Given the description of an element on the screen output the (x, y) to click on. 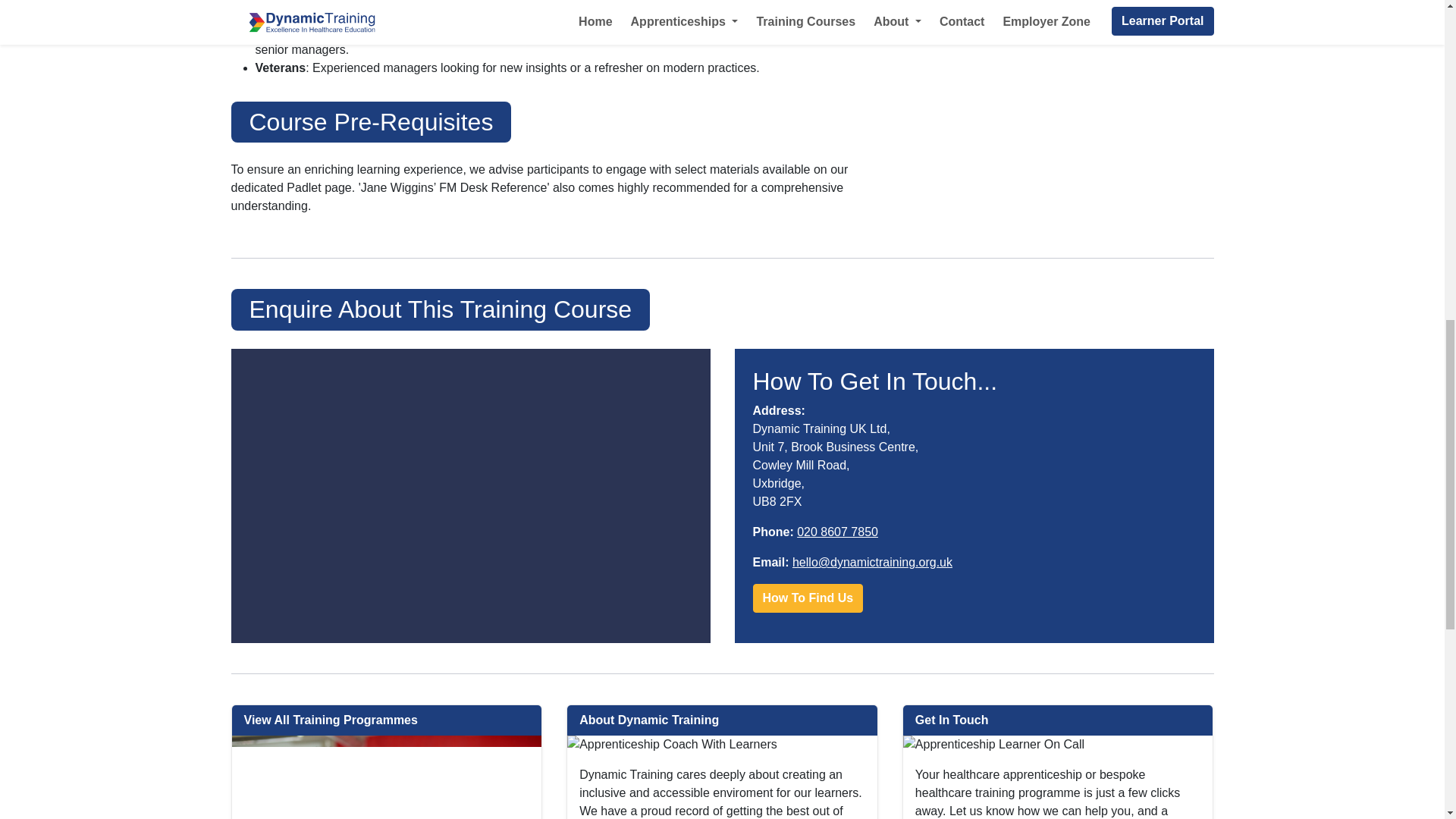
020 8607 7850 (836, 531)
Find Us (807, 597)
How To Find Us (807, 597)
